Given the description of an element on the screen output the (x, y) to click on. 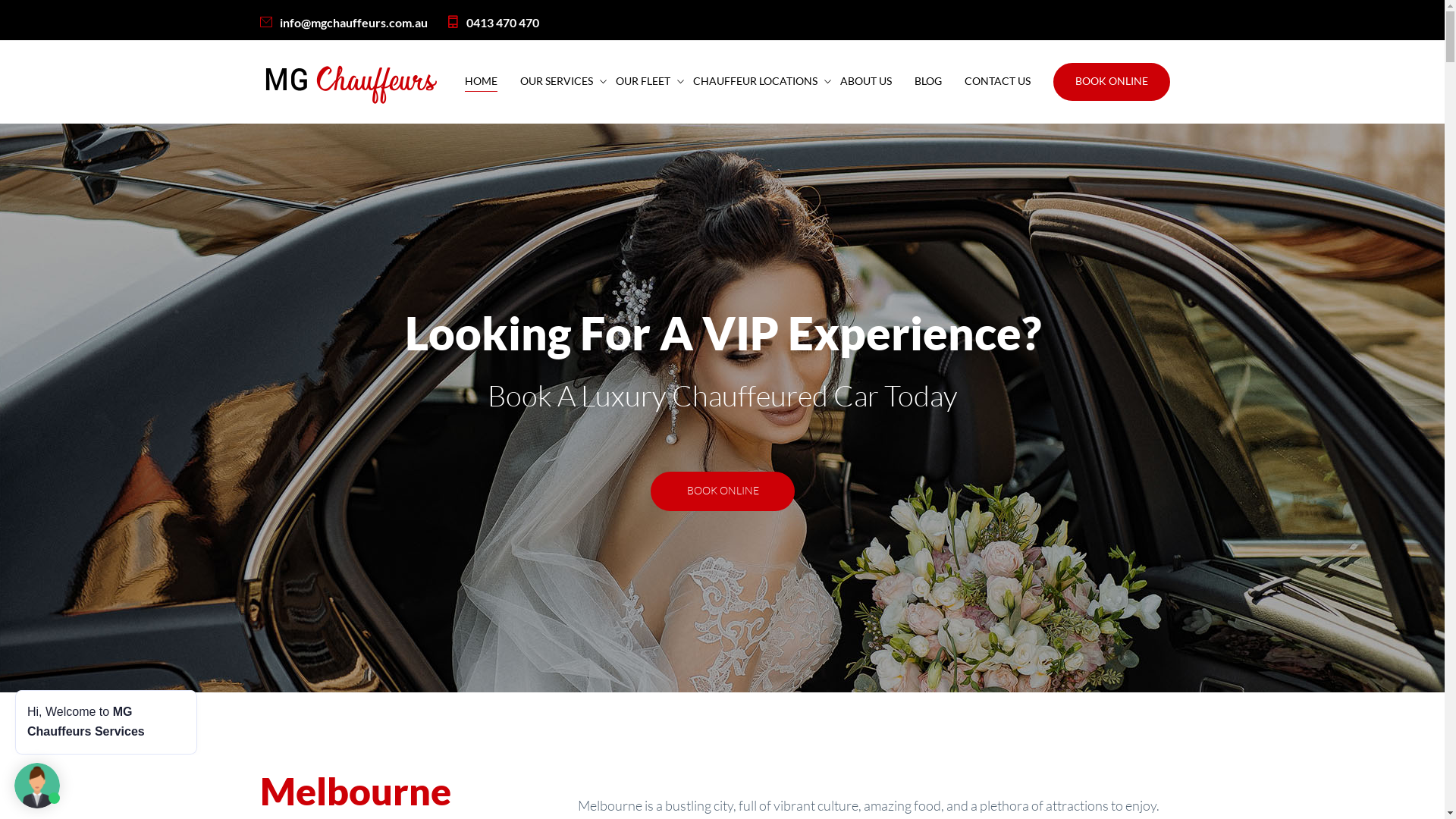
MG Chauffeurs Element type: hover (348, 81)
OUR SERVICES Element type: text (556, 81)
BLOG Element type: text (927, 81)
BOOK ONLINE Element type: text (722, 491)
BOOK ONLINE Element type: text (1110, 81)
CONTACT US Element type: text (997, 81)
OUR FLEET Element type: text (642, 81)
CHAUFFEUR LOCATIONS Element type: text (755, 81)
info@mgchauffeurs.com.au Element type: text (342, 22)
0413 470 470 Element type: text (491, 22)
HOME Element type: text (480, 81)
ABOUT US Element type: text (865, 81)
